Given the description of an element on the screen output the (x, y) to click on. 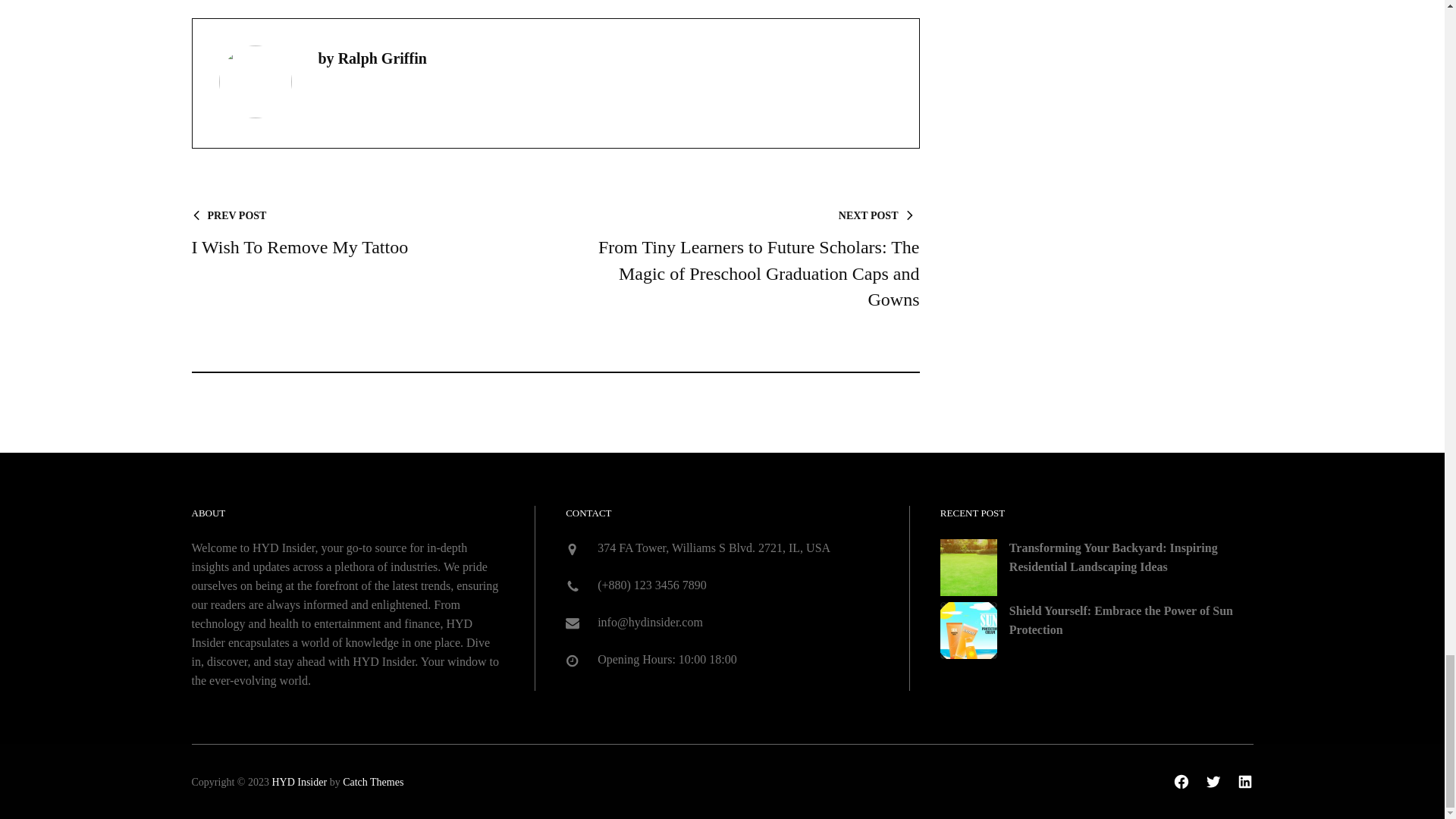
374 FA Tower, Williams S Blvd. 2721, IL, USA (712, 547)
Catch Themes (372, 781)
LinkedIn (1244, 781)
HYD Insider (298, 781)
Shield Yourself: Embrace the Power of Sun Protection (1121, 620)
Facebook (360, 234)
Twitter (1180, 781)
Opening Hours: 10:00 18:00 (1212, 781)
